Given the description of an element on the screen output the (x, y) to click on. 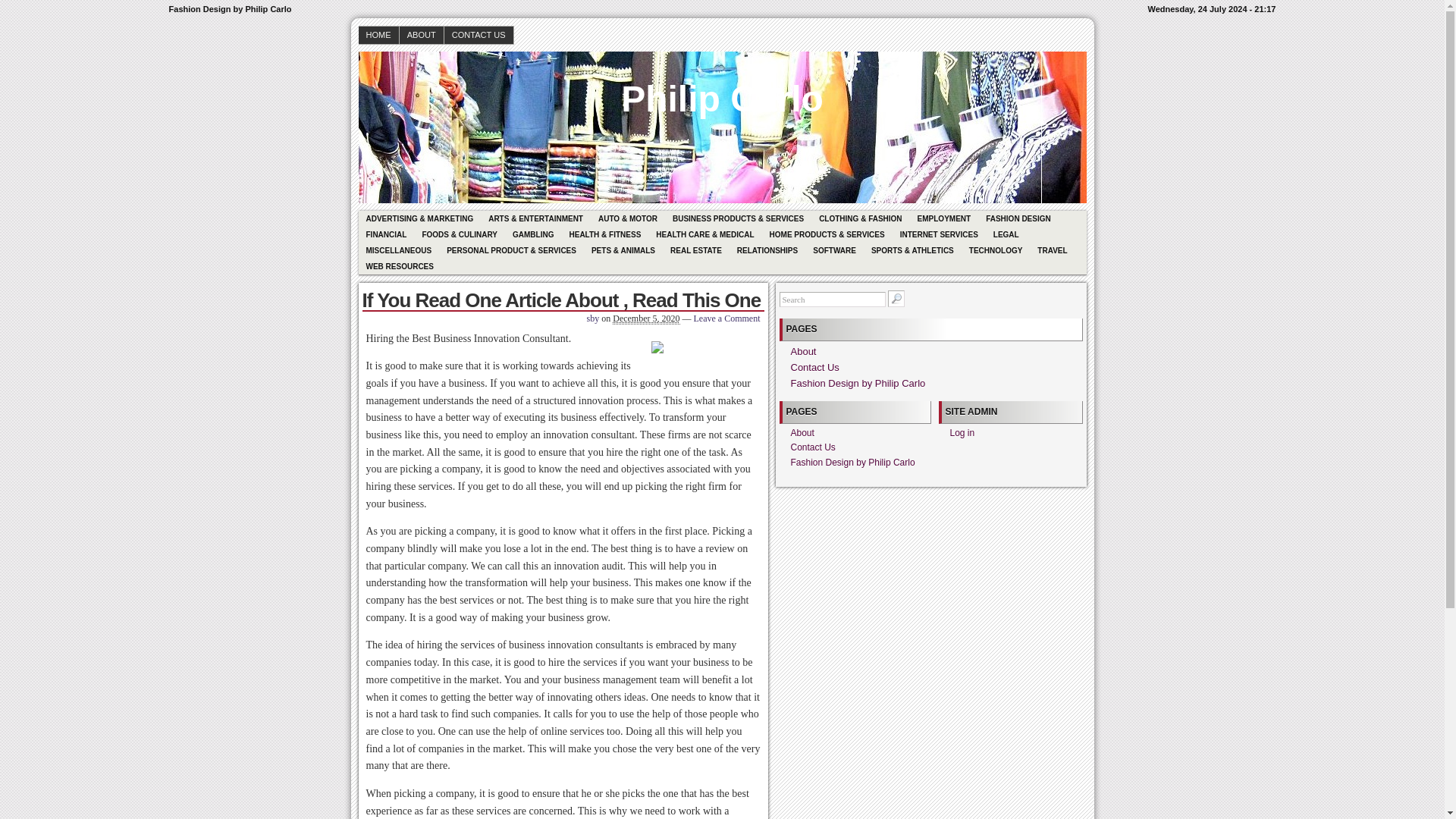
FASHION DESIGN (1018, 218)
Search (831, 299)
About (801, 432)
Leave a Comment (727, 317)
site information (721, 9)
View all posts by sby (592, 317)
REAL ESTATE (695, 250)
EMPLOYMENT (944, 218)
December 5, 2020 - 1:14 am (645, 318)
INTERNET SERVICES (938, 234)
WEB RESOURCES (399, 266)
About (802, 351)
FINANCIAL (385, 234)
SOFTWARE (834, 250)
Philip Carlo (722, 88)
